Given the description of an element on the screen output the (x, y) to click on. 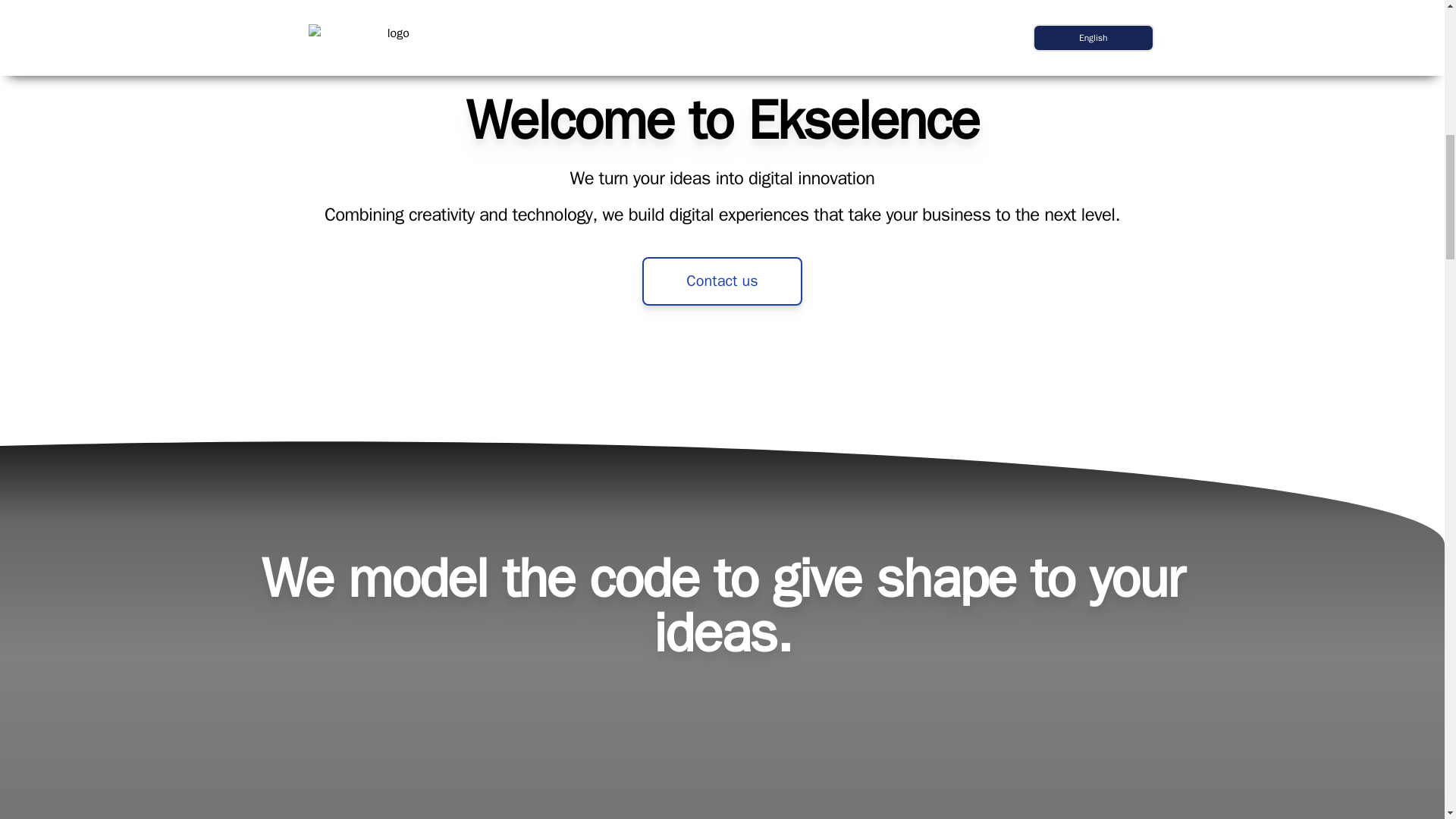
Contact us (722, 281)
